Given the description of an element on the screen output the (x, y) to click on. 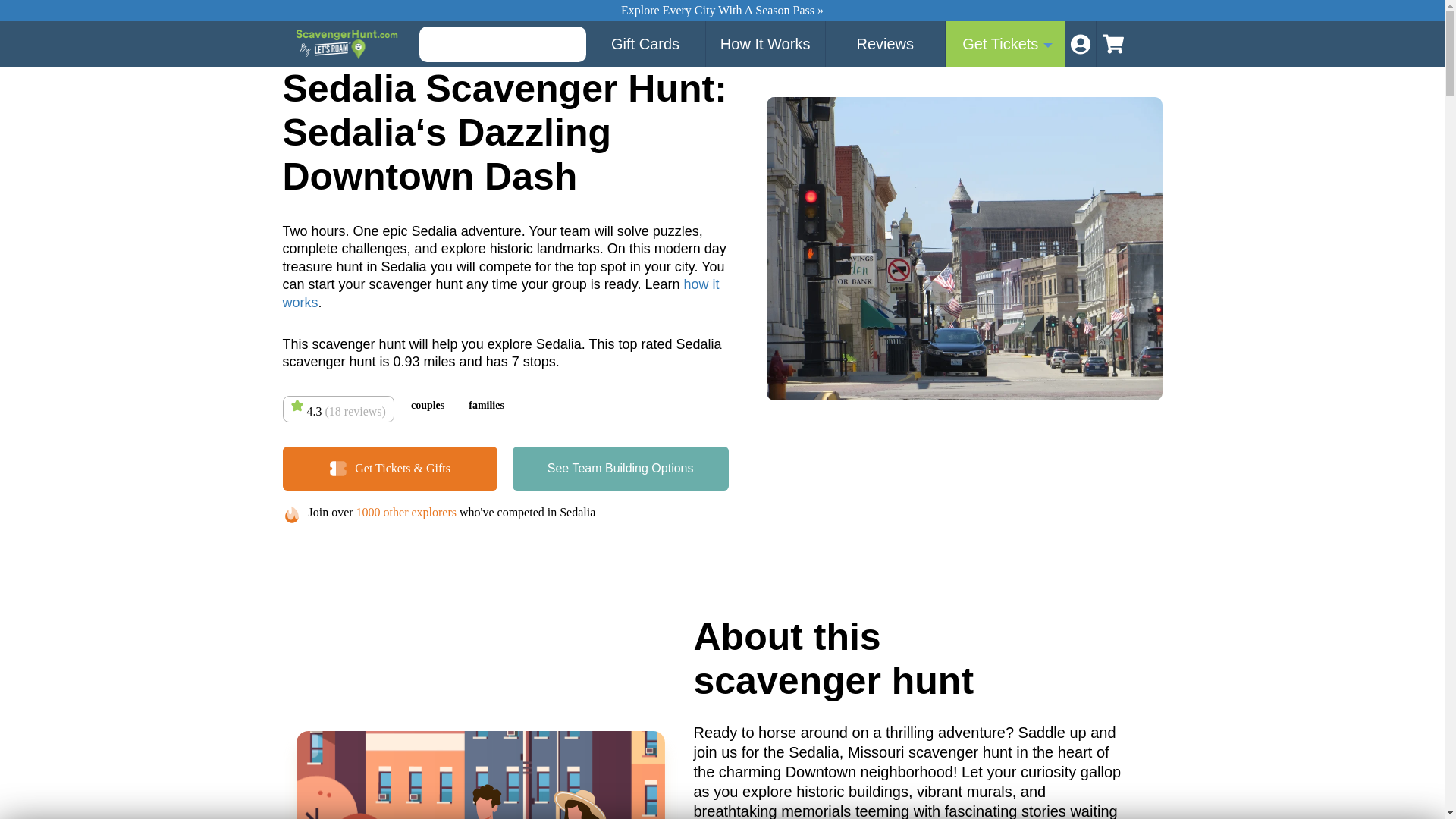
How It Works (765, 43)
Gift Cards (644, 43)
See Gift Options (644, 43)
Reviews (884, 43)
Reviews (884, 43)
Get Scavenger Hunt Tickets (1004, 43)
how it works (500, 292)
How our Scavenger Hunts work (765, 43)
Get Tickets (1004, 43)
how it works (500, 292)
See Team Building Options (620, 468)
ScavengerHunt.com Scavenger Hunts by Let's Roam (348, 43)
Scavenger Hunts Near Me (1115, 43)
Get Tickets (620, 468)
